Given the description of an element on the screen output the (x, y) to click on. 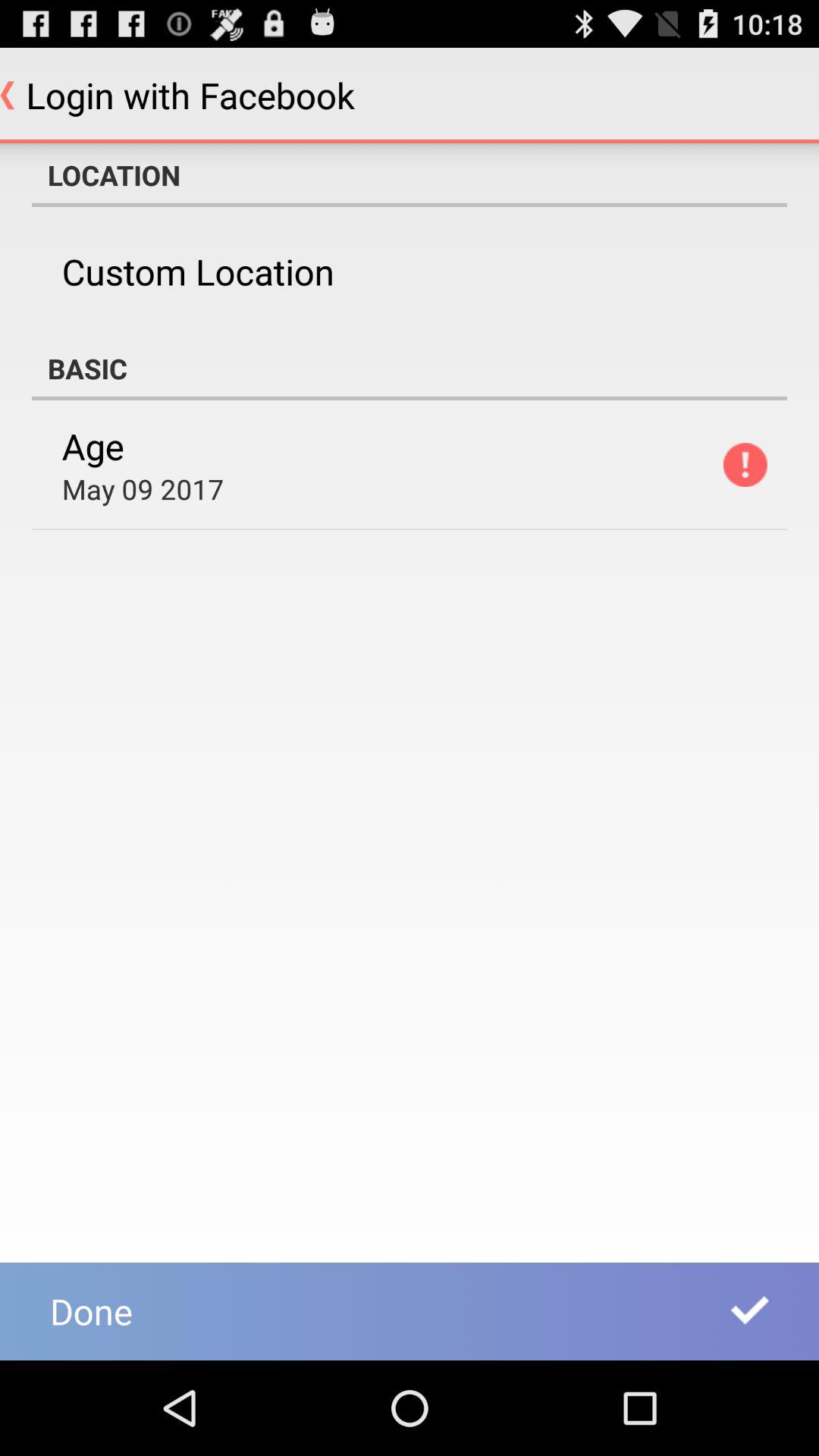
select the age icon (92, 446)
